Given the description of an element on the screen output the (x, y) to click on. 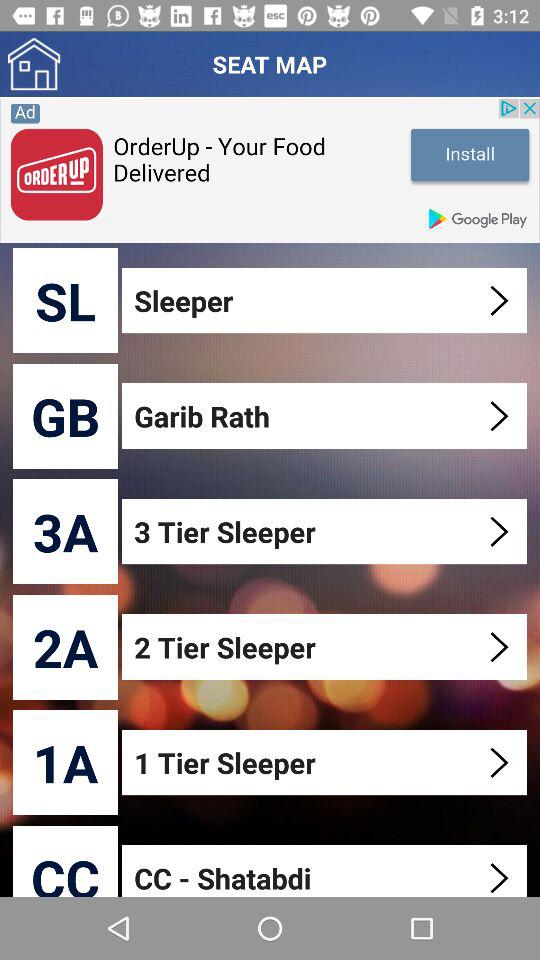
scroll to garib rath icon (326, 415)
